Given the description of an element on the screen output the (x, y) to click on. 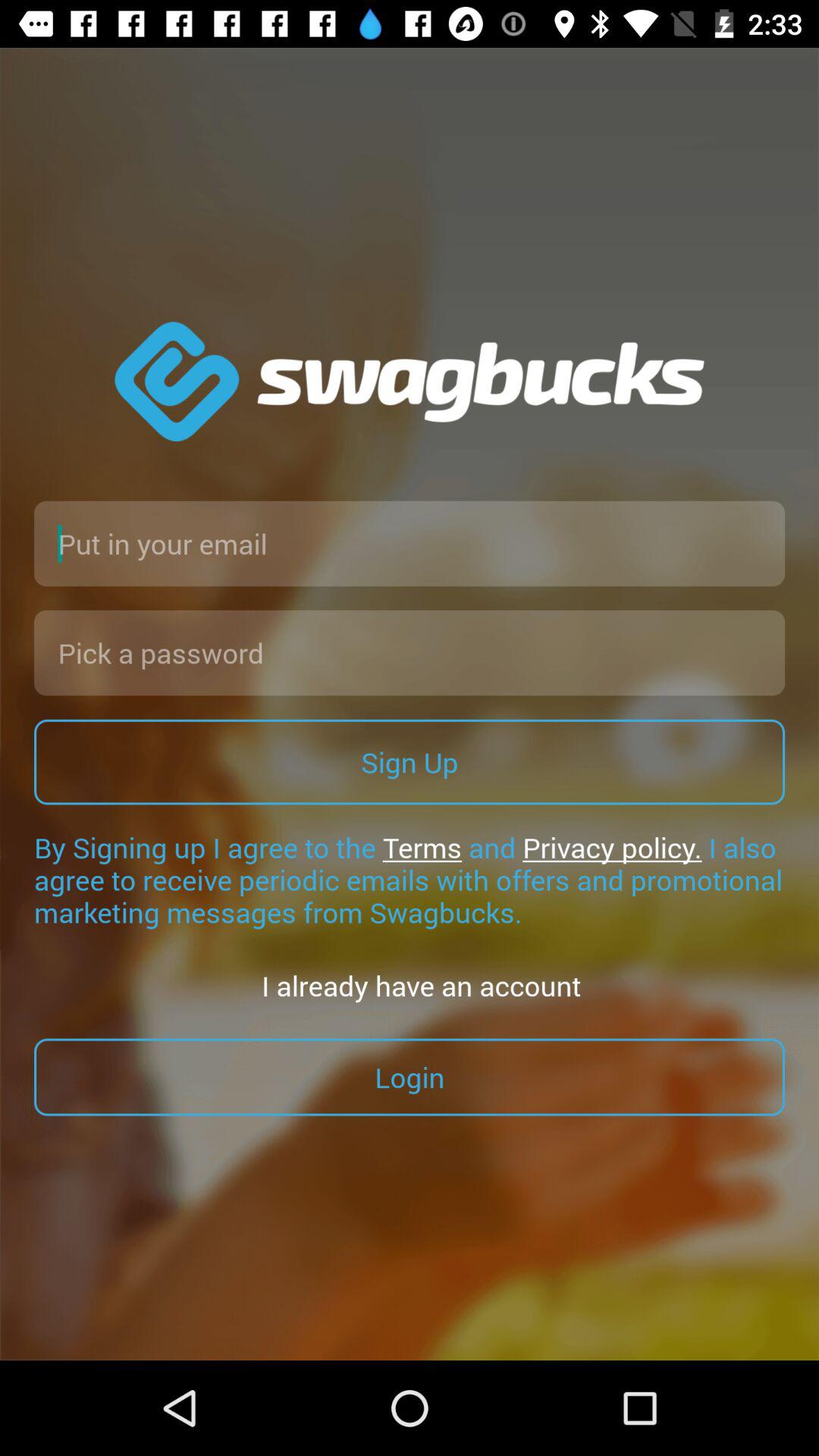
turn on icon above the i already have item (409, 879)
